Given the description of an element on the screen output the (x, y) to click on. 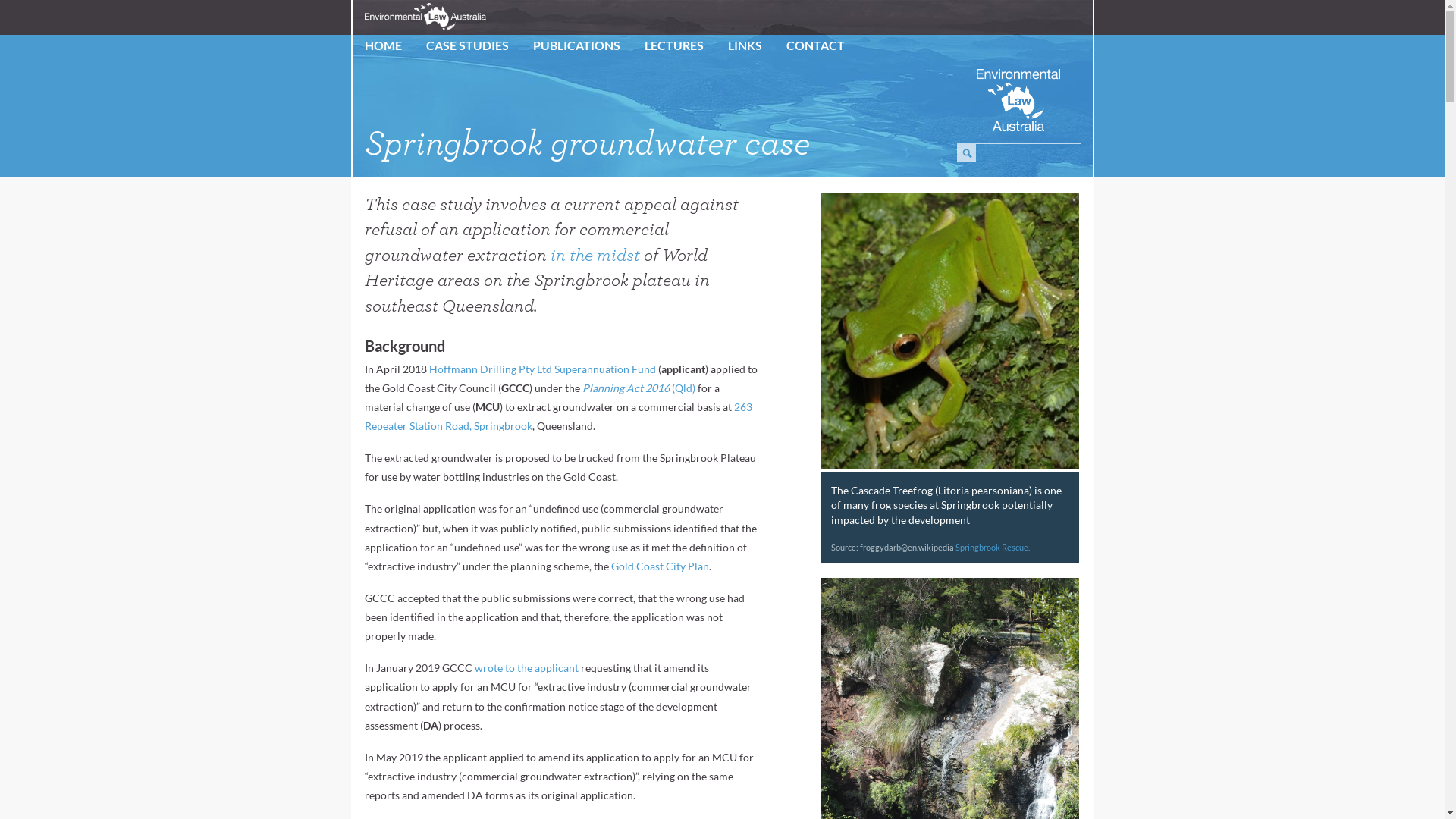
wrote to the applicant Element type: text (526, 667)
Springbrook Rescue. Element type: text (992, 547)
CASE STUDIES Element type: text (467, 44)
Gold Coast City Plan Element type: text (660, 565)
Planning Act 2016 (Qld) Element type: text (638, 387)
Hoffmann Drilling Pty Ltd Superannuation Fund Element type: text (542, 368)
LINKS Element type: text (745, 44)
263 Repeater Station Road, Springbrook Element type: text (558, 416)
CONTACT Element type: text (815, 44)
LECTURES Element type: text (673, 44)
HOME Element type: text (382, 44)
PUBLICATIONS Element type: text (576, 44)
in the midst Element type: text (595, 255)
